Given the description of an element on the screen output the (x, y) to click on. 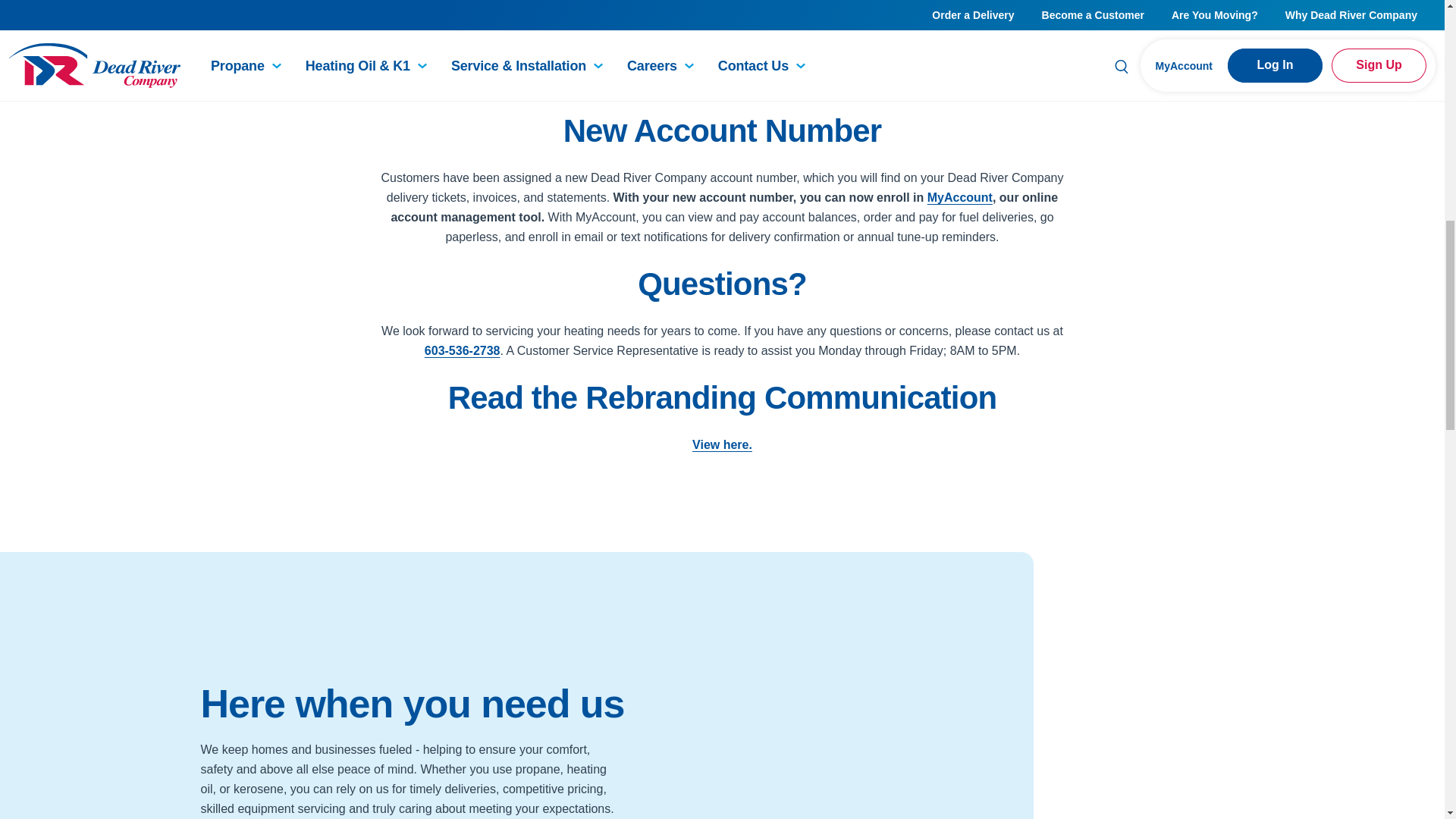
YouTube video player (986, 712)
